Given the description of an element on the screen output the (x, y) to click on. 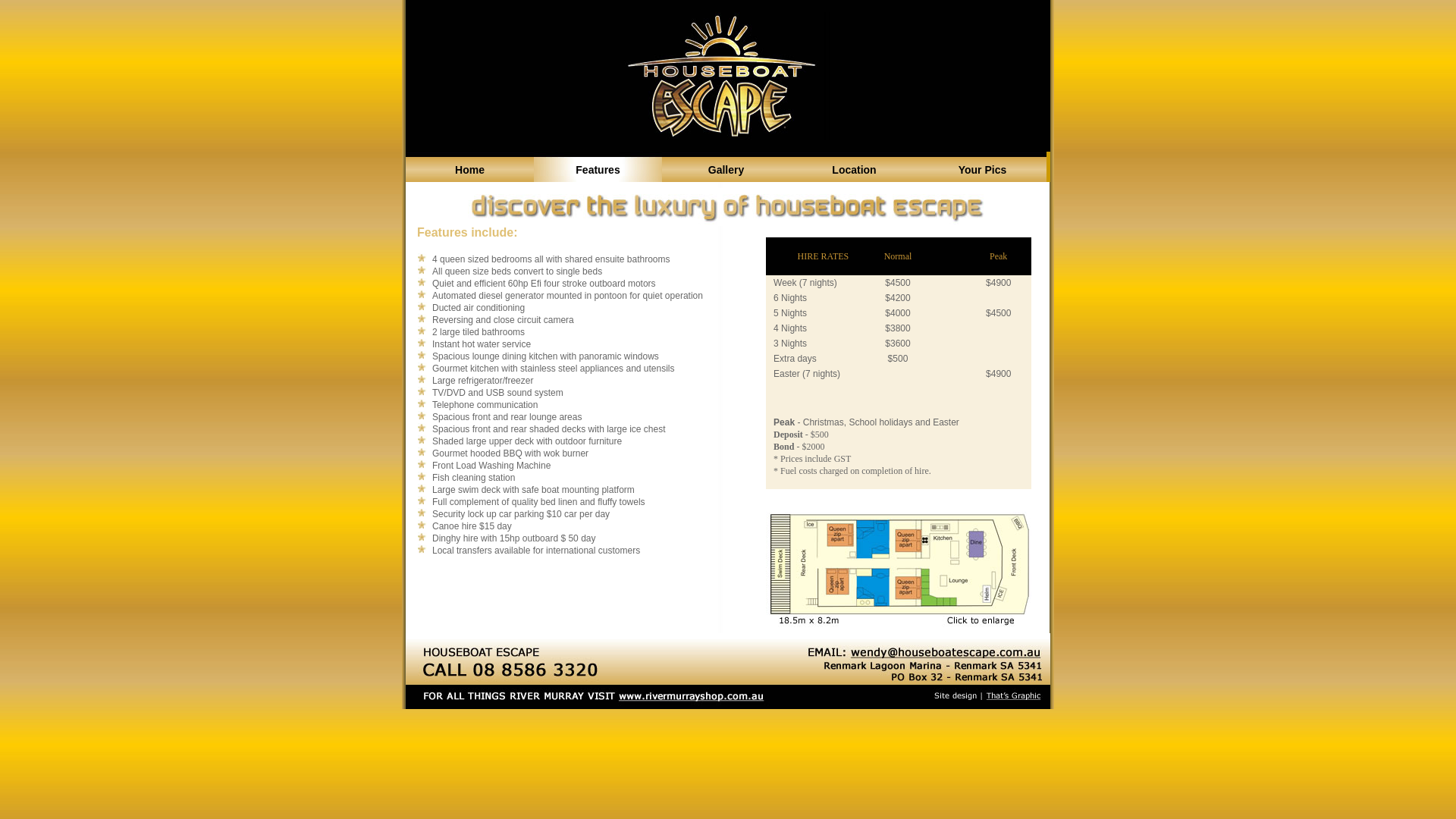
Features Element type: text (597, 169)
Home Element type: text (469, 169)
Location Element type: text (854, 169)
Gallery Element type: text (726, 169)
Your Pics Element type: text (982, 169)
